Given the description of an element on the screen output the (x, y) to click on. 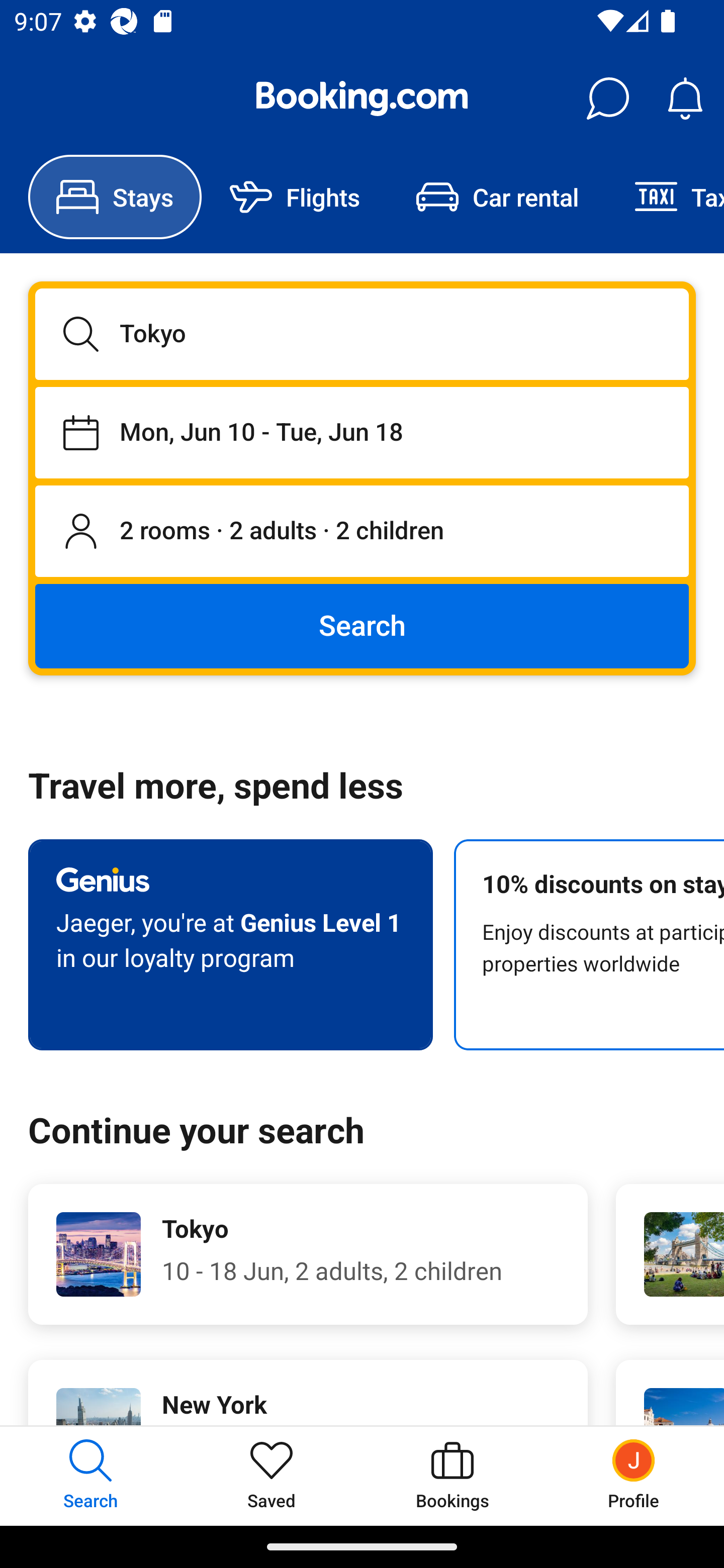
Messages (607, 98)
Notifications (685, 98)
Stays (114, 197)
Flights (294, 197)
Car rental (497, 197)
Taxi (665, 197)
Tokyo (361, 333)
Staying from Mon, Jun 10 until Tue, Jun 18 (361, 432)
2 rooms, 2 adults, 2 children (361, 531)
Search (361, 625)
Tokyo 10 - 18 Jun, 2 adults, 2 children (307, 1253)
Saved (271, 1475)
Bookings (452, 1475)
Profile (633, 1475)
